Given the description of an element on the screen output the (x, y) to click on. 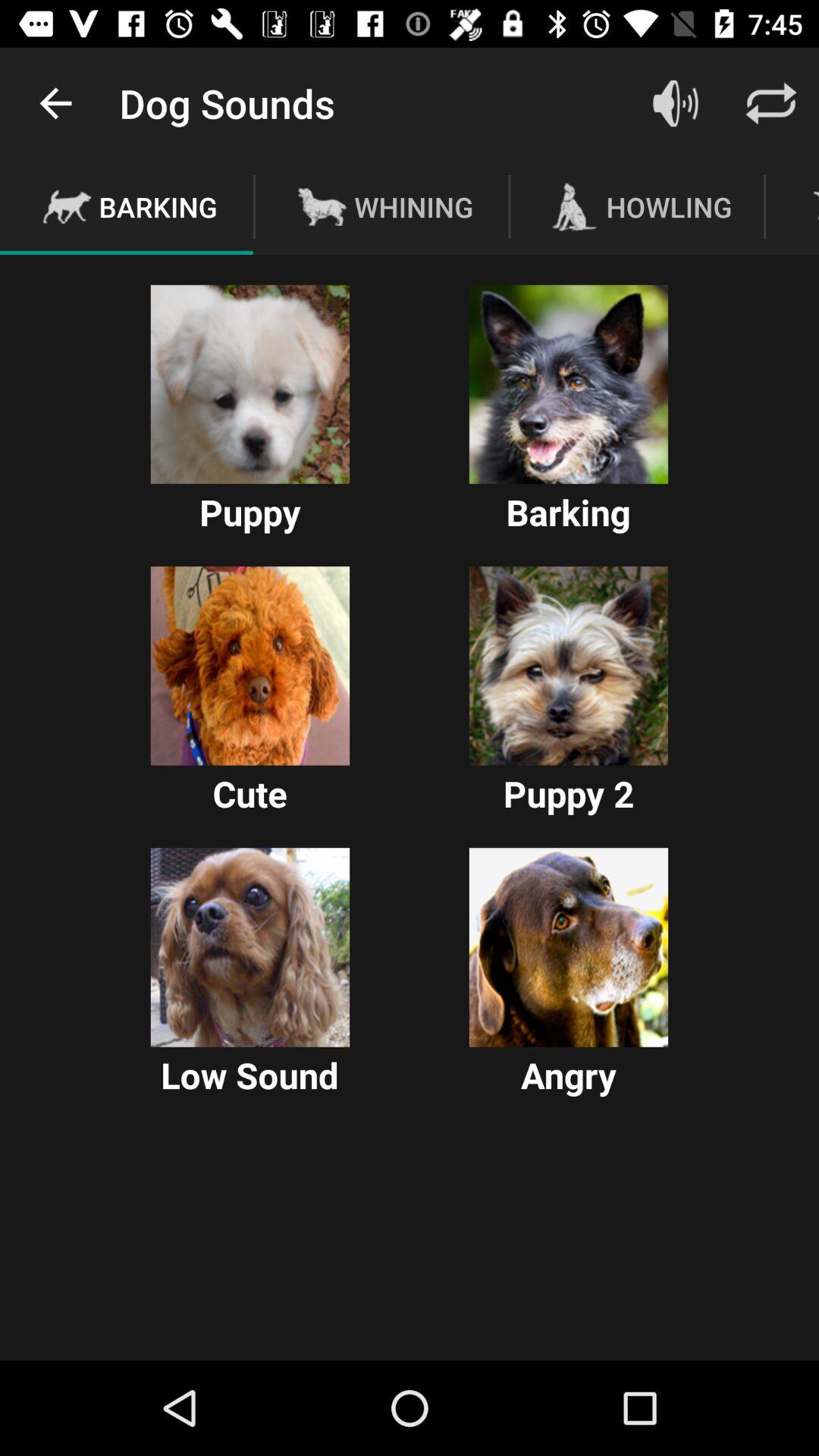
loop (771, 103)
